Given the description of an element on the screen output the (x, y) to click on. 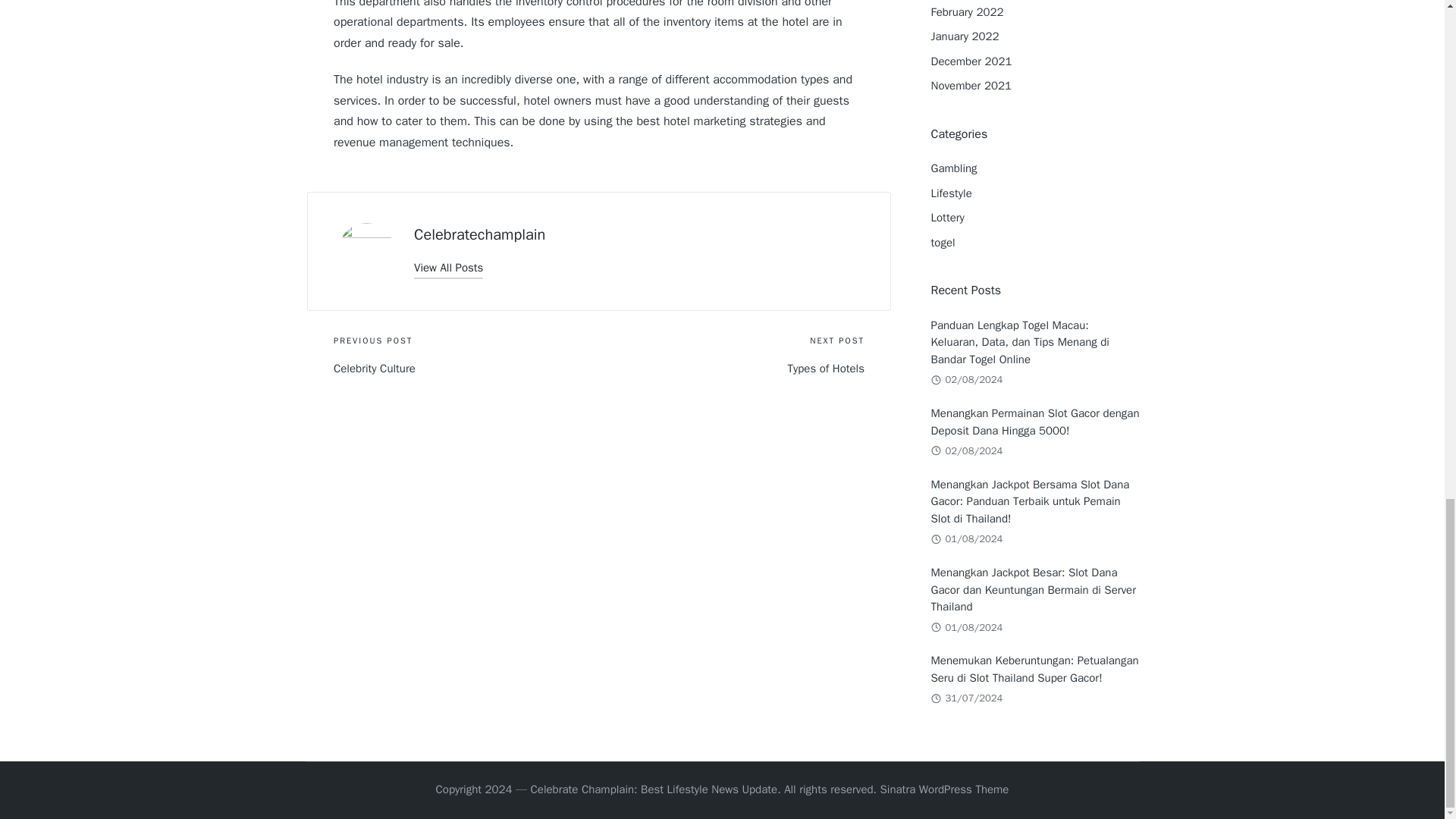
Types of Hotels (731, 368)
Celebratechamplain (478, 234)
View All Posts (448, 267)
Celebrity Culture (465, 368)
